Given the description of an element on the screen output the (x, y) to click on. 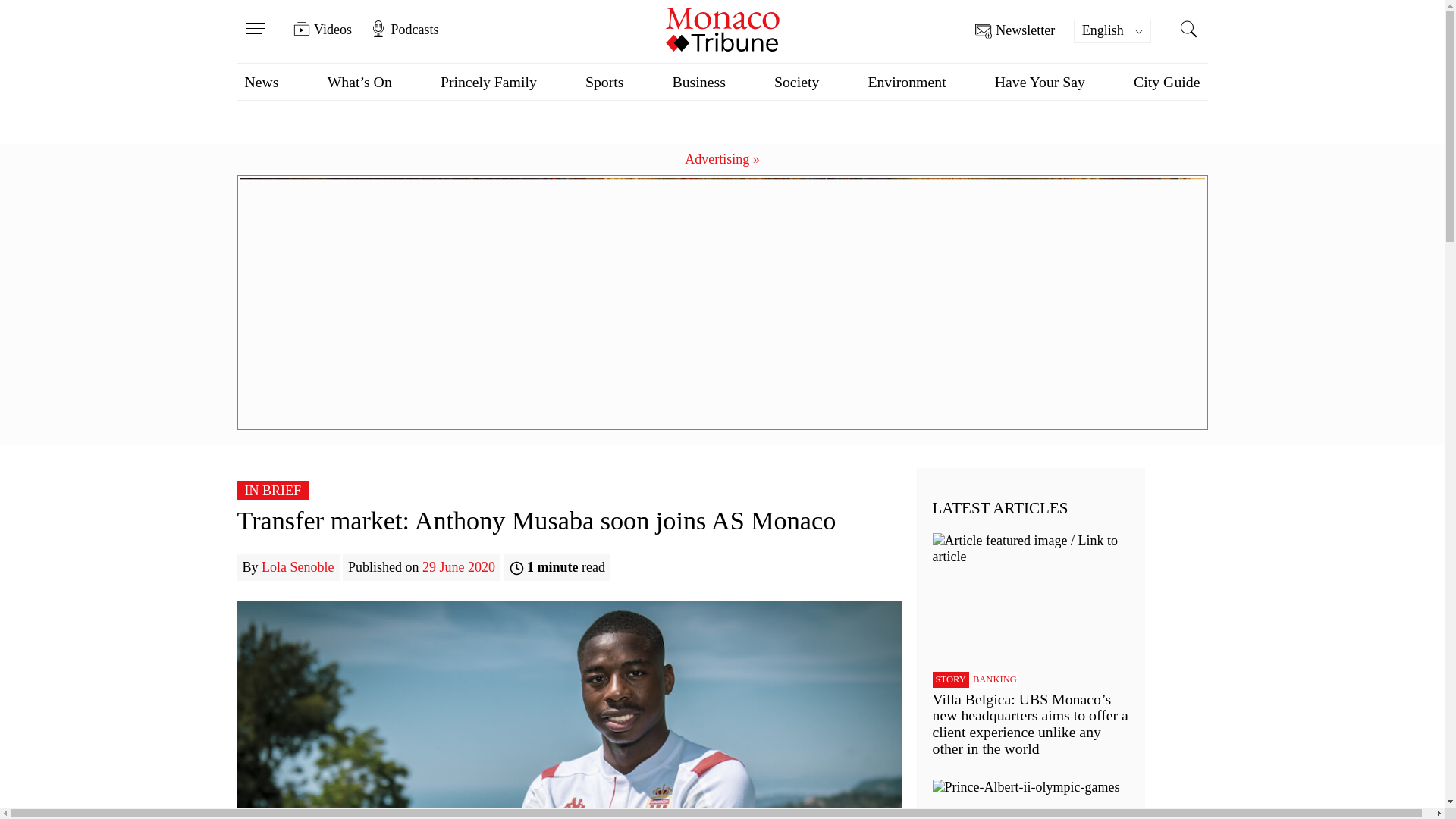
Newsletter (1014, 31)
News (261, 81)
English (1112, 31)
Podcasts (403, 28)
Videos (323, 28)
